Given the description of an element on the screen output the (x, y) to click on. 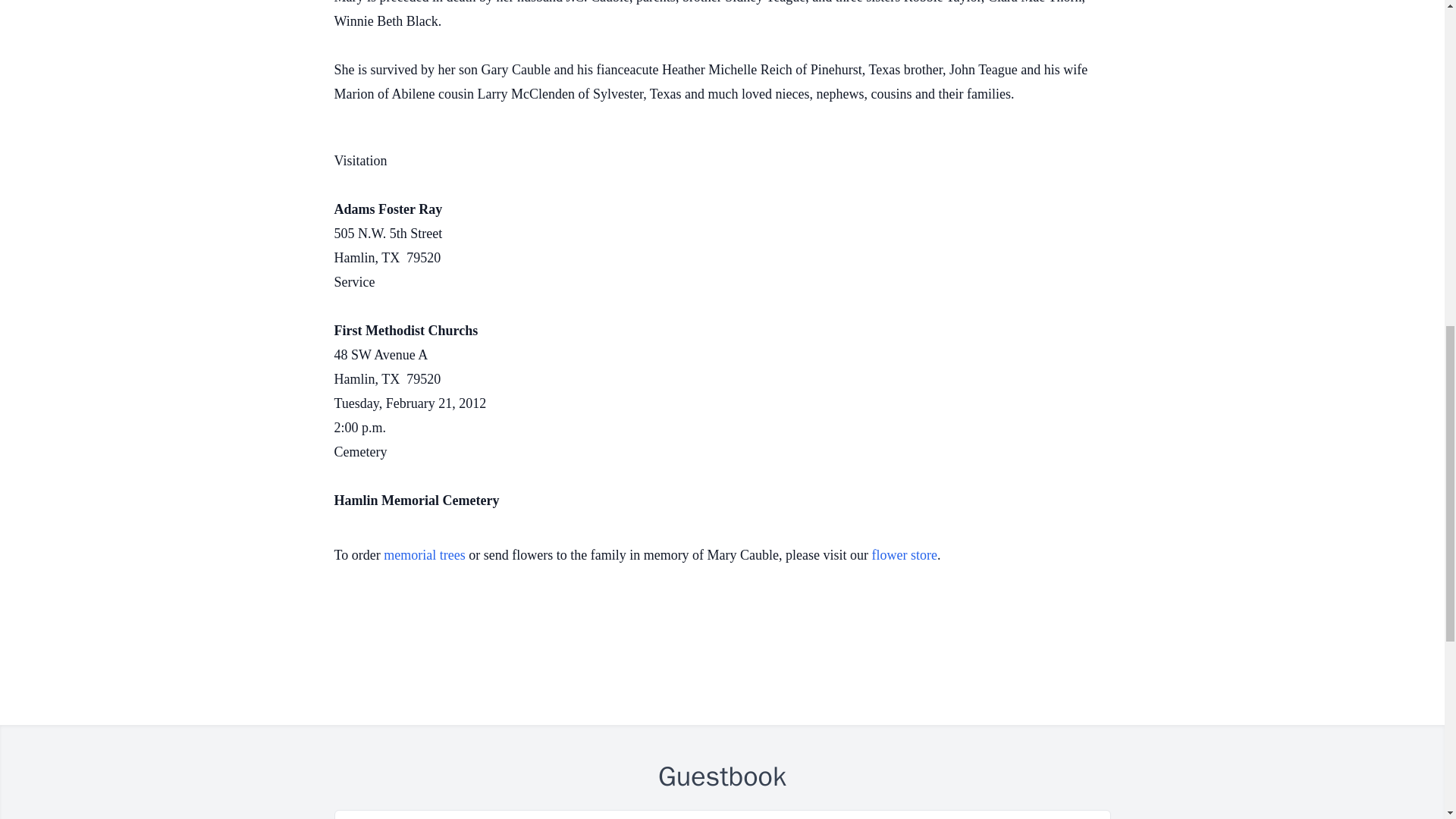
flower store (904, 554)
memorial trees (424, 554)
